Given the description of an element on the screen output the (x, y) to click on. 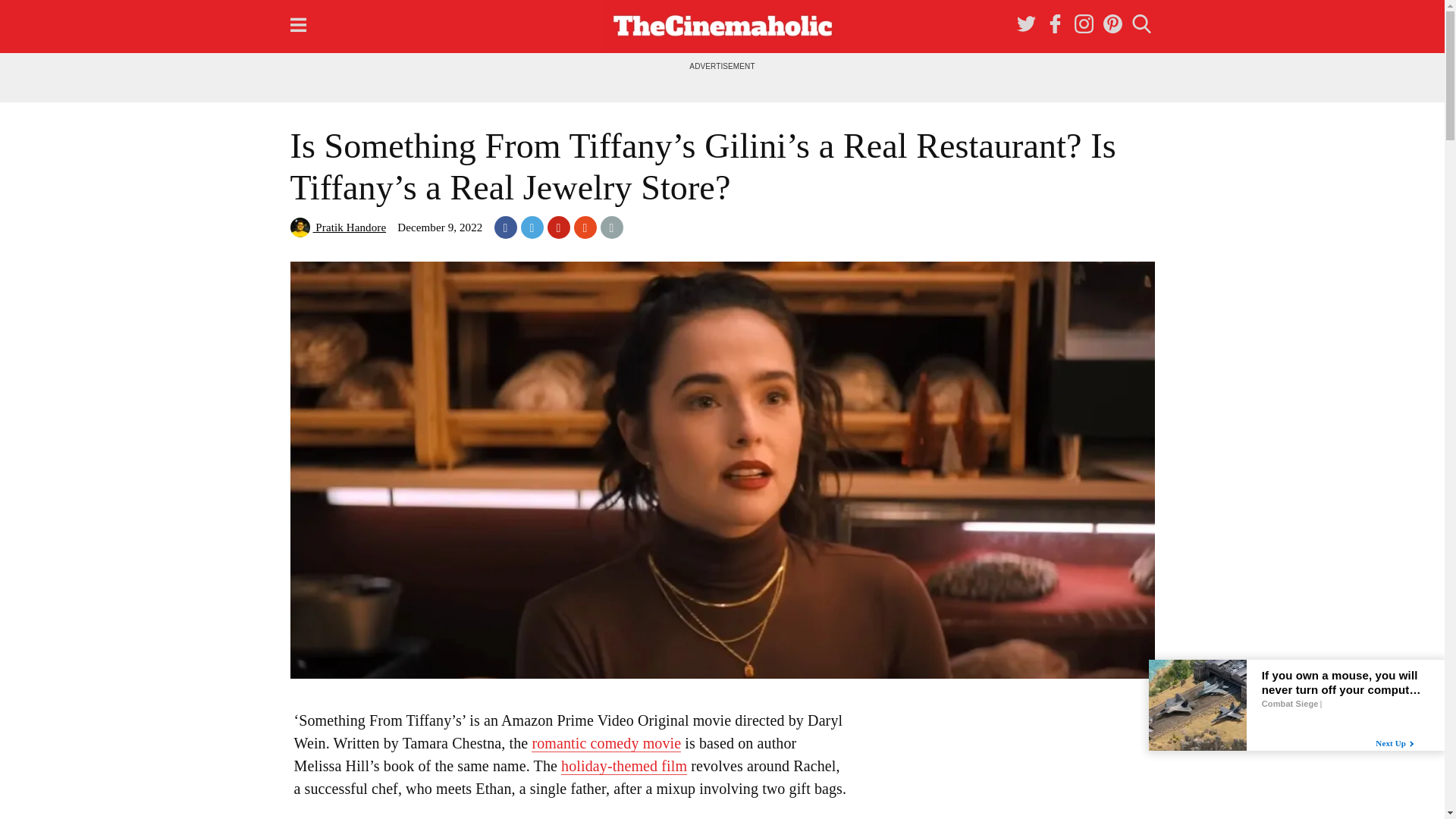
holiday-themed film (623, 765)
romantic comedy movie (606, 743)
Pratik Handore (337, 227)
